Given the description of an element on the screen output the (x, y) to click on. 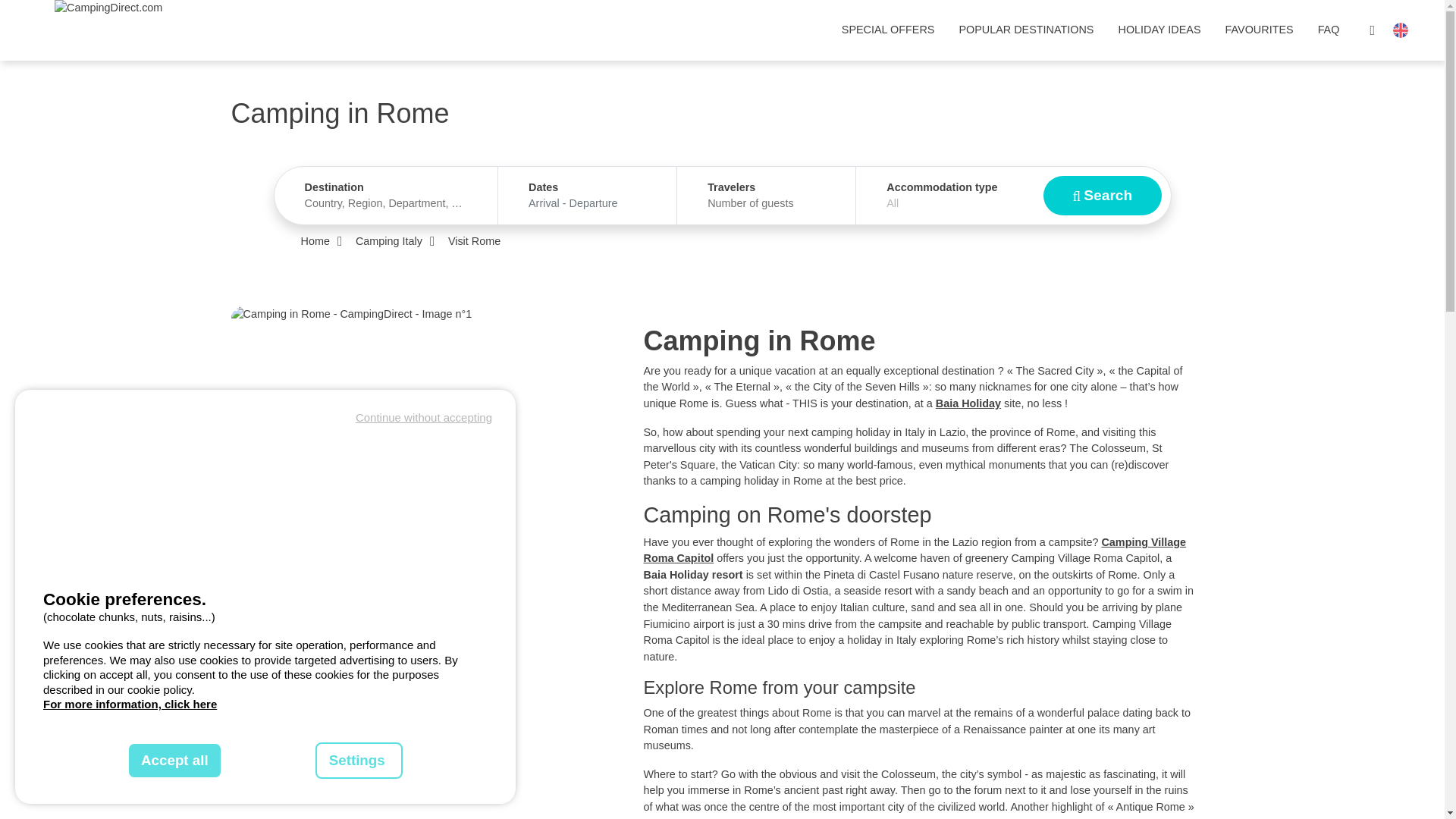
See campsites in Camping Italy (388, 241)
See campsites in Visit Rome (474, 241)
FAVOURITES (1259, 30)
SPECIAL OFFERS (888, 30)
Camping Direct (108, 30)
